Given the description of an element on the screen output the (x, y) to click on. 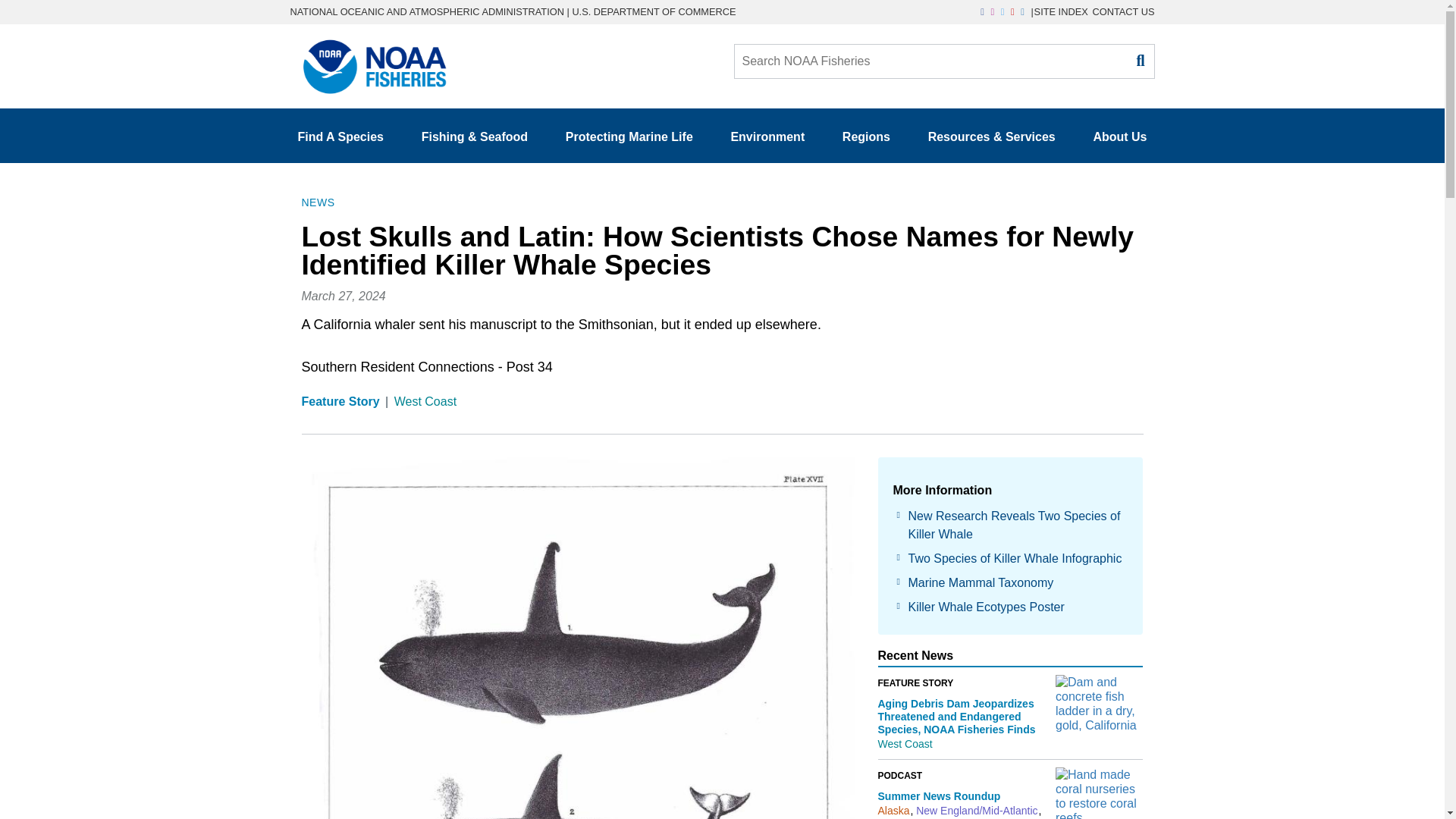
NATIONAL OCEANIC AND ATMOSPHERIC ADMINISTRATION (426, 11)
U.S. DEPARTMENT OF COMMERCE (653, 11)
Find A Species (340, 137)
CONTACT US (1123, 11)
Home (368, 61)
Search (1139, 60)
SITE INDEX (1060, 11)
